Given the description of an element on the screen output the (x, y) to click on. 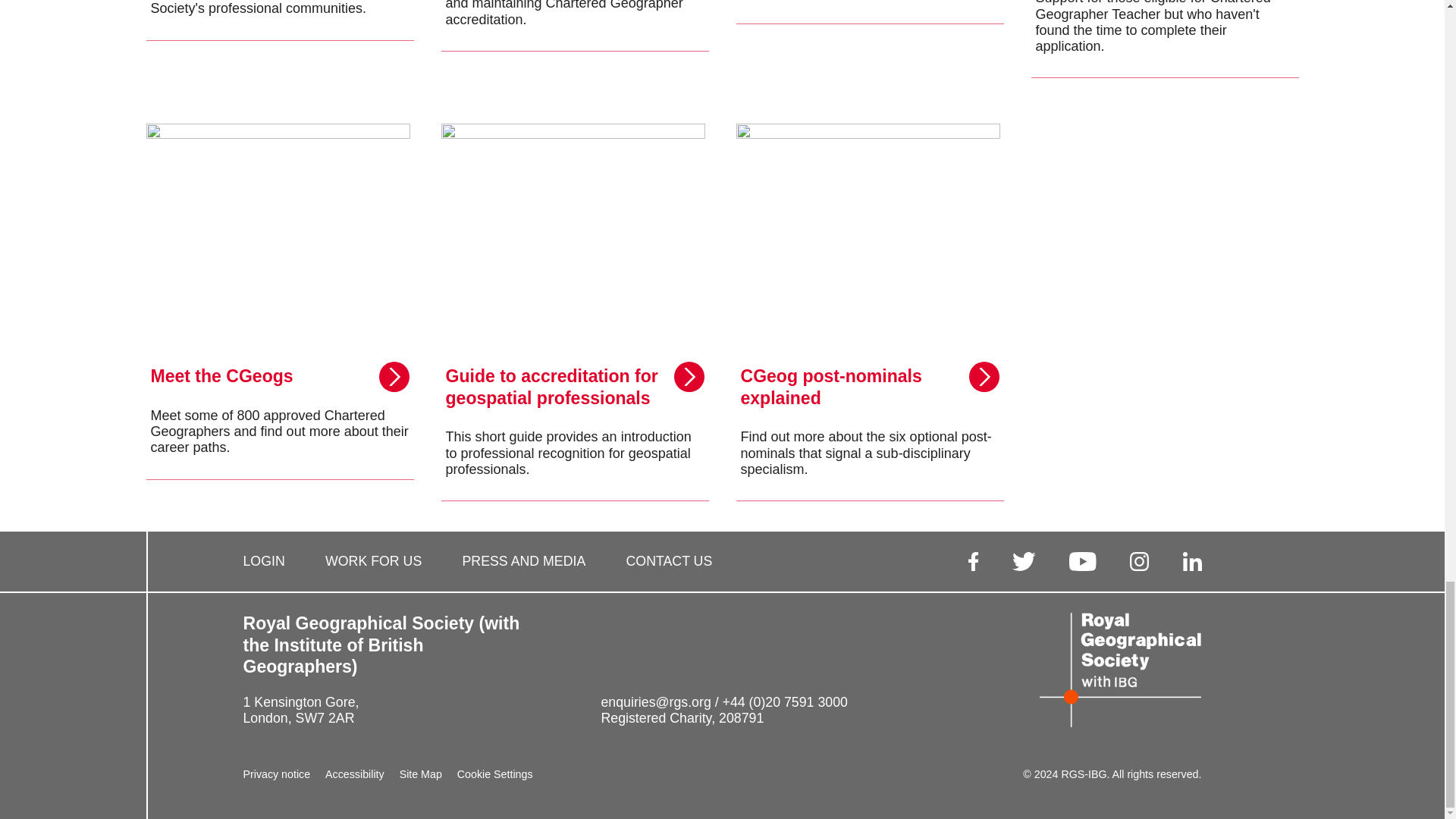
Chartered Geographer Teacher application accelerator (1164, 38)
Facebook (973, 561)
CGeog post-nominals explained (869, 312)
Mentoring network (575, 38)
Register of Chartered Geographers (869, 38)
Guide to accreditation for geospatial professionals (575, 312)
Maintaining CGeog status (279, 38)
Meet the CGeogs (279, 312)
